Given the description of an element on the screen output the (x, y) to click on. 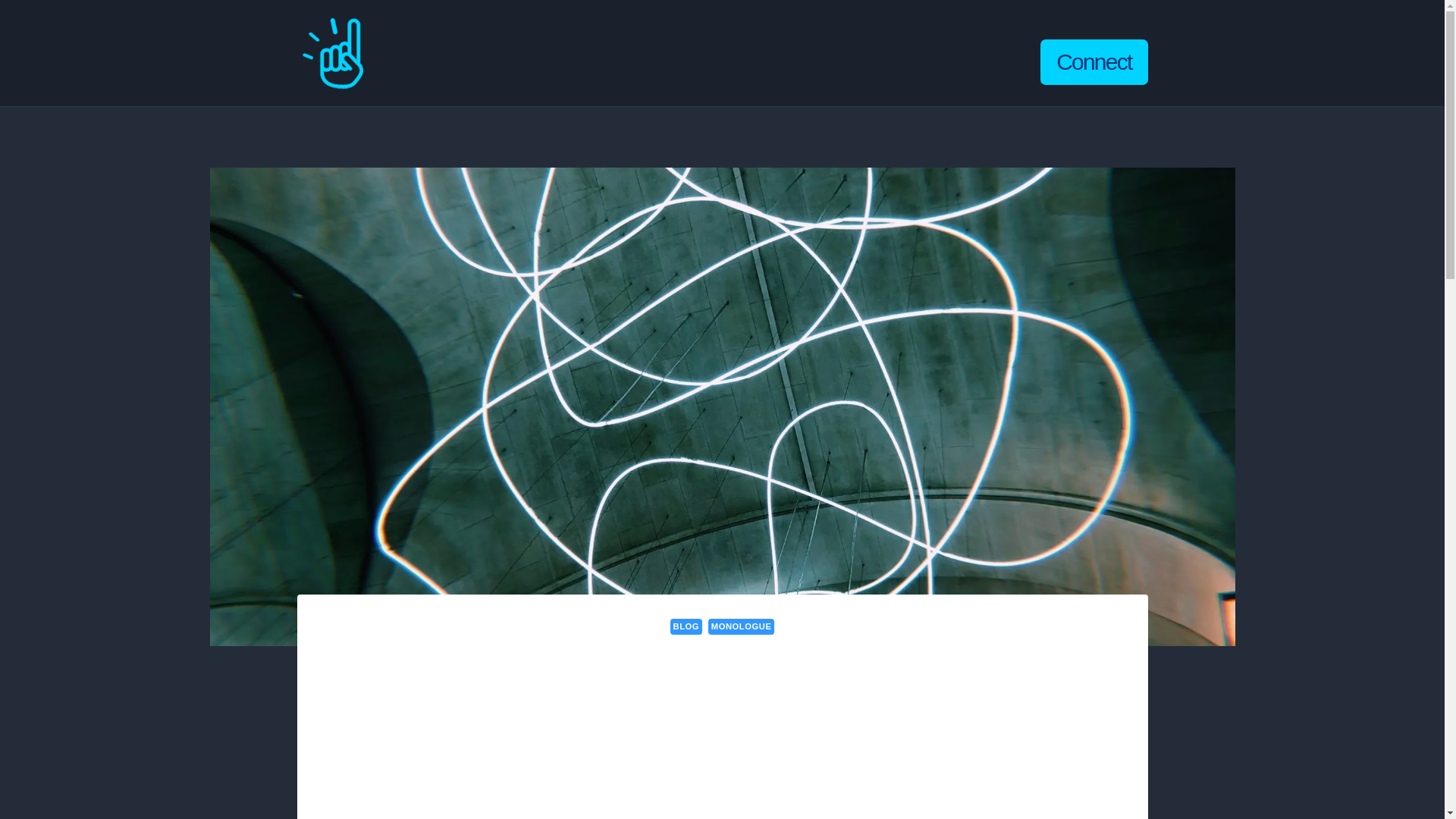
Connect (1094, 62)
MONOLOGUE (740, 626)
BLOG (686, 626)
